Given the description of an element on the screen output the (x, y) to click on. 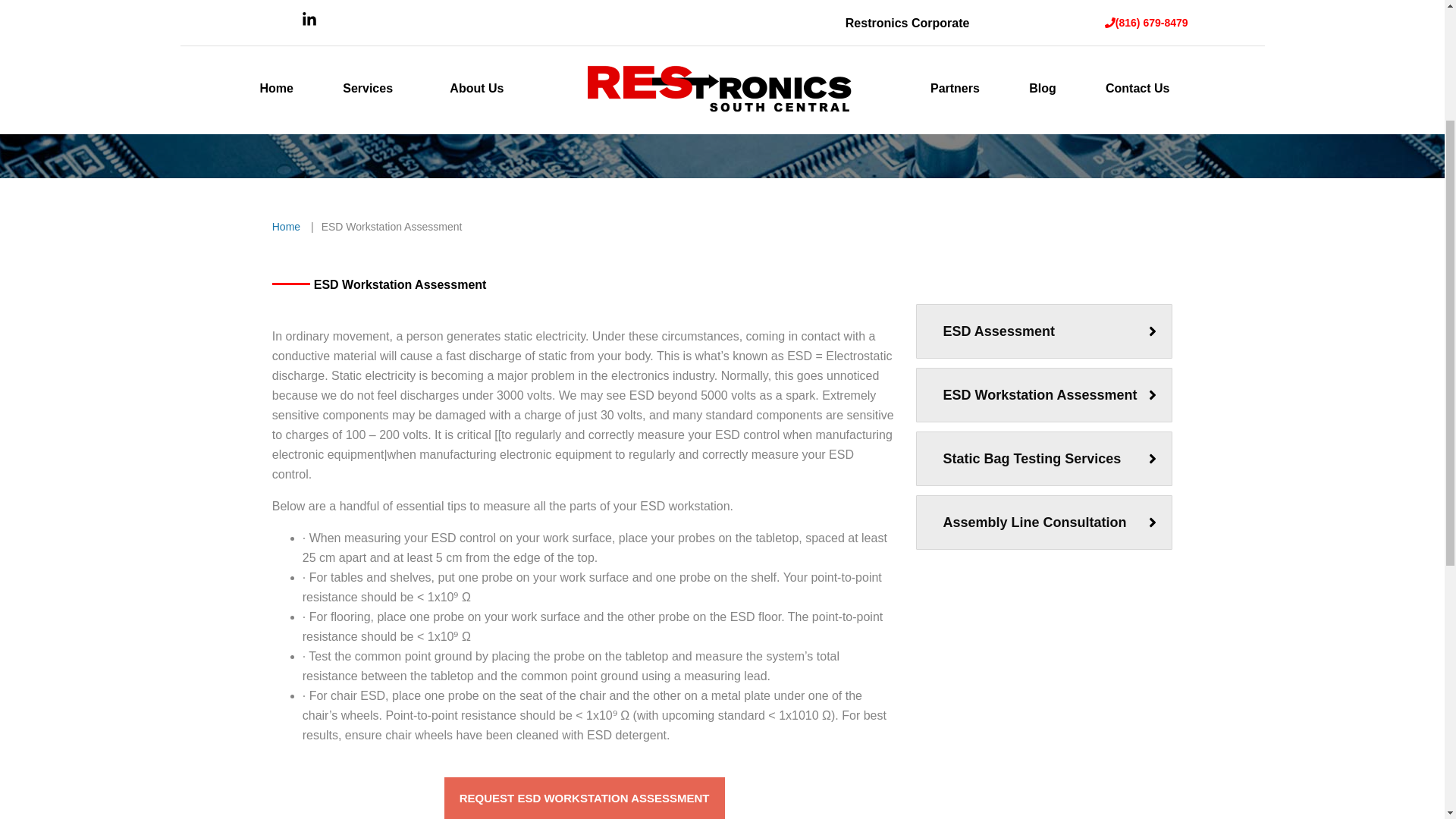
ESD Workstation Assessment (1040, 394)
Static Bag Testing Services (1032, 458)
Home (285, 226)
ESD Assessment (998, 331)
Des Moines (340, 215)
Assembly Line Consultation (1034, 522)
